Given the description of an element on the screen output the (x, y) to click on. 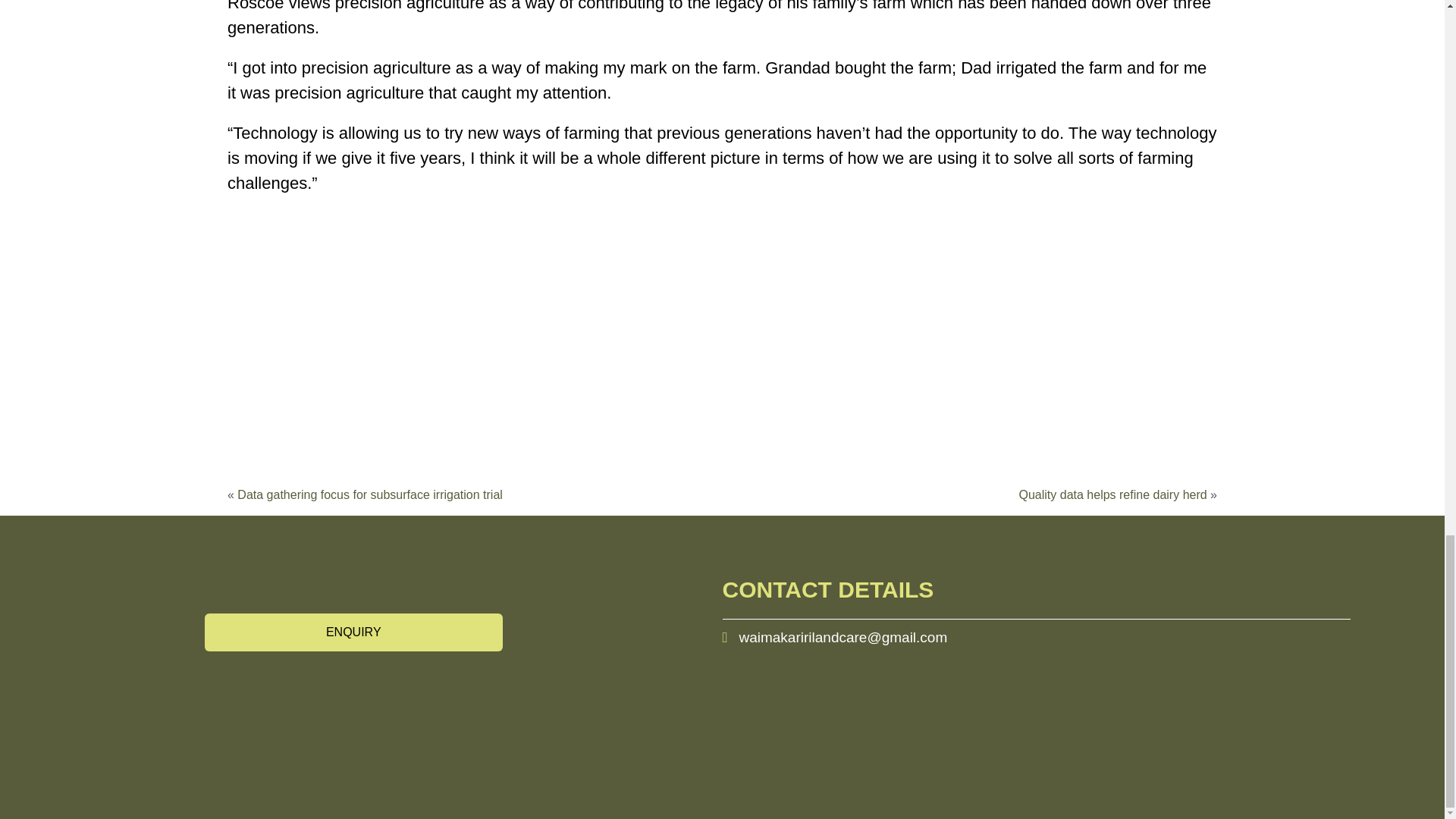
ENQUIRY (353, 632)
Quantifying benefits of sensor-based nitrogen application (417, 357)
Quality data helps refine dairy herd (1113, 494)
Data gathering focus for subsurface irrigation trial (369, 494)
